Given the description of an element on the screen output the (x, y) to click on. 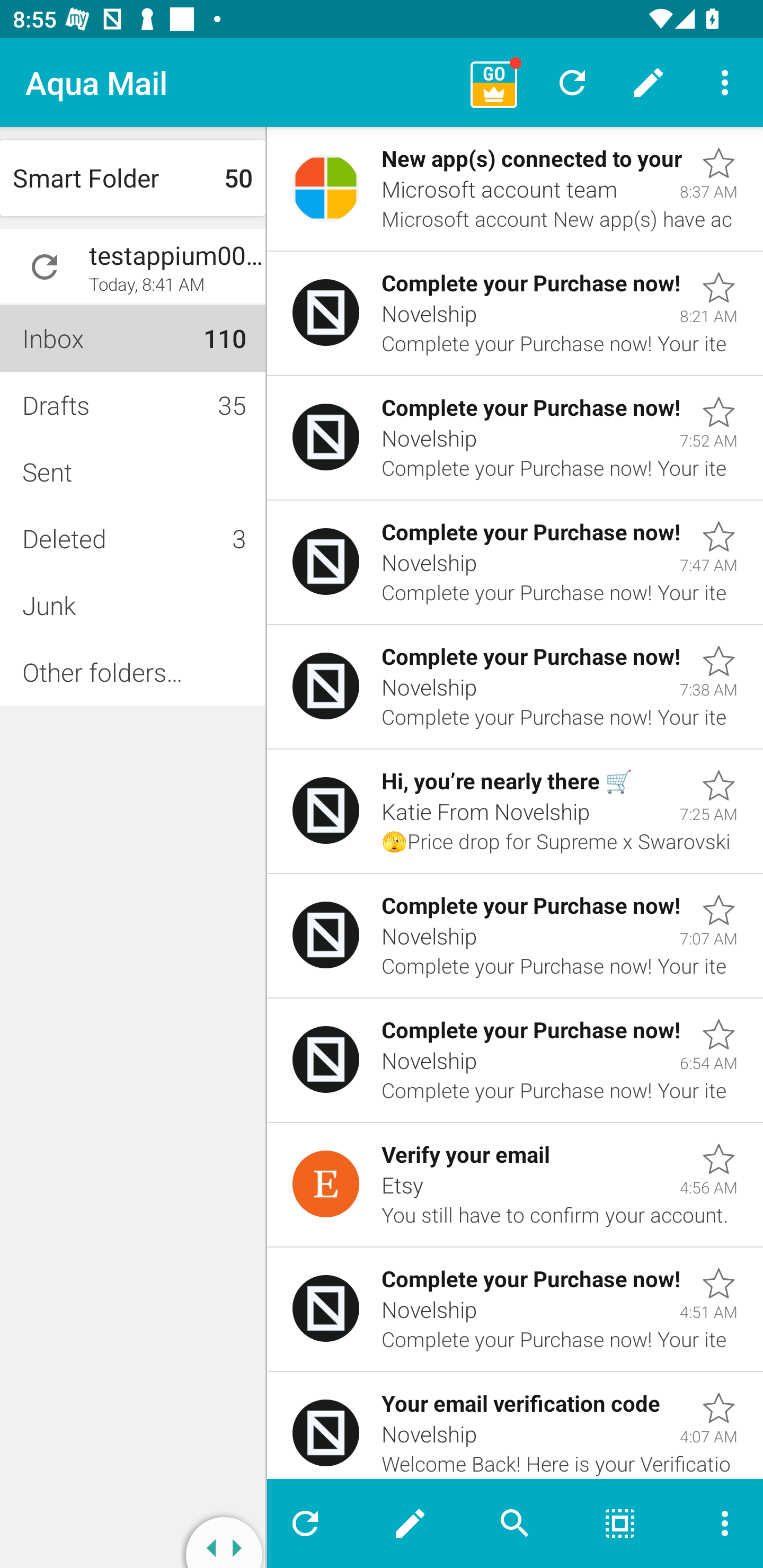
Refresh all (572, 82)
New message (648, 82)
More options (724, 81)
Smart Folder 50 50 unread, 50 total messages (132, 177)
Refresh account (44, 266)
Sent Folder: Sent 24 total messages (132, 471)
Deleted Folder: Deleted 3 3 total messages (132, 538)
Junk Folder: Junk 0 total messages (132, 605)
Other folders… (132, 671)
Refresh (312, 1523)
New message (409, 1523)
Search (514, 1523)
Select all (619, 1523)
More options (717, 1522)
